Given the description of an element on the screen output the (x, y) to click on. 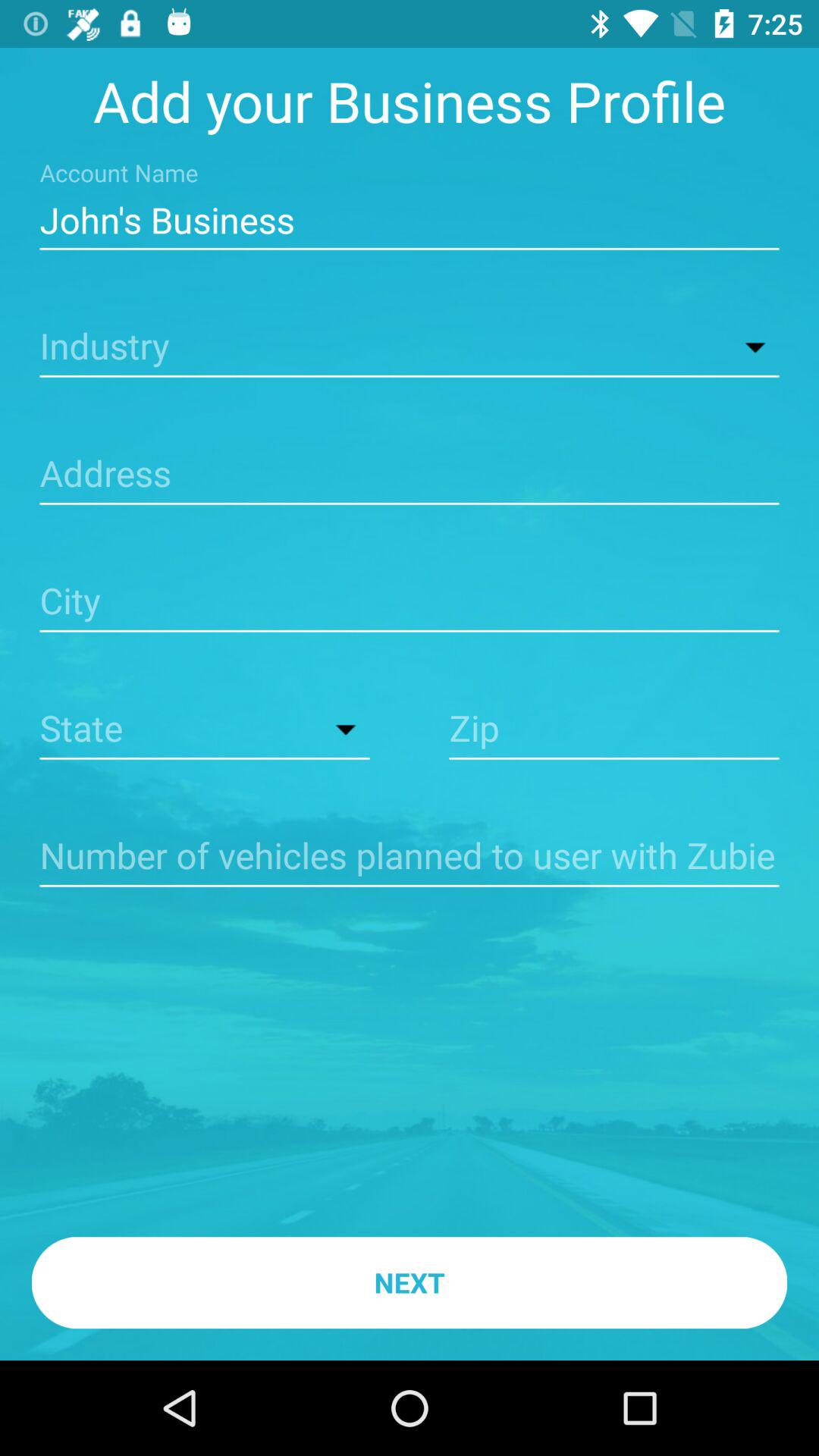
enter information (409, 857)
